Given the description of an element on the screen output the (x, y) to click on. 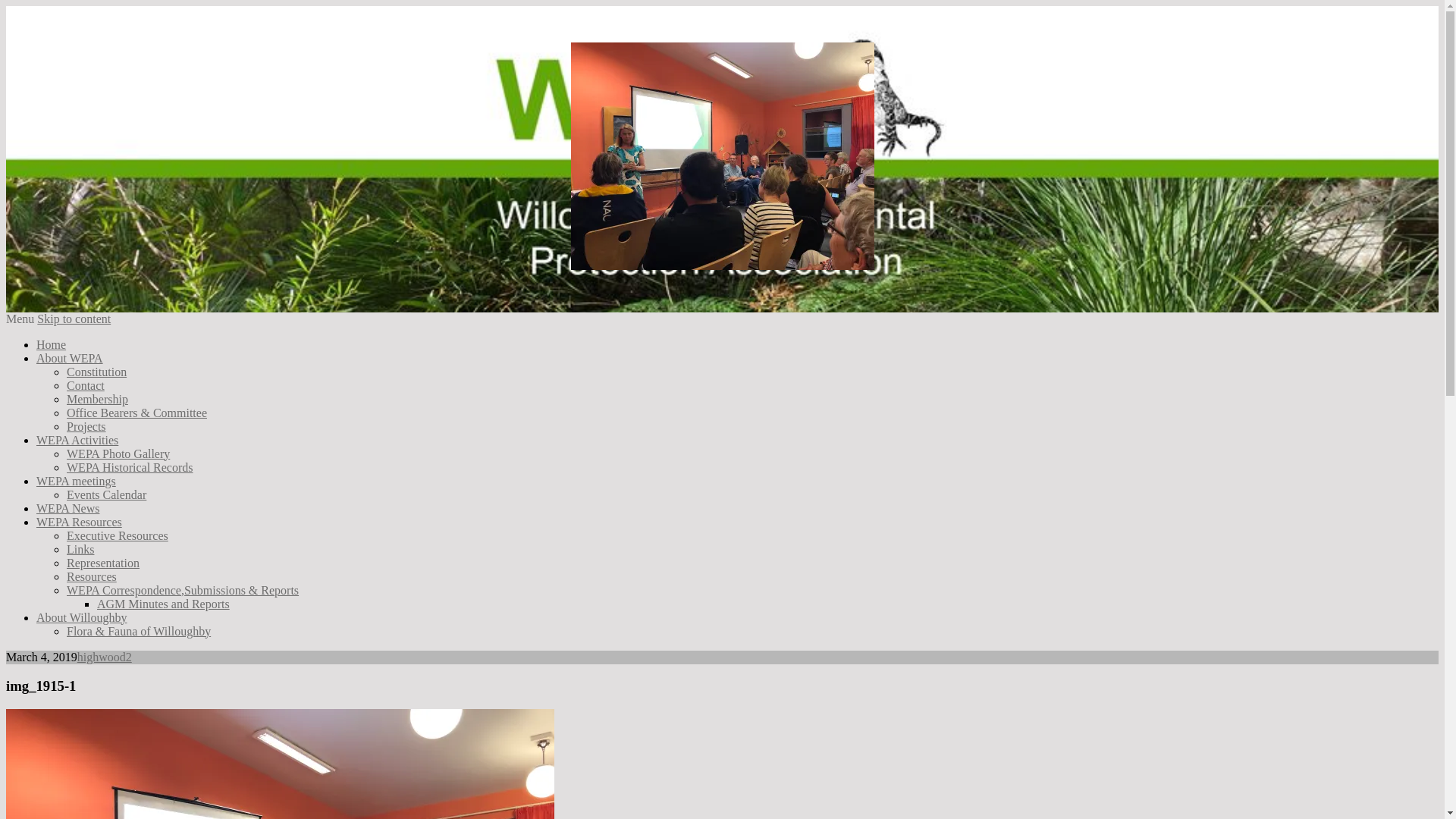
Representation Element type: text (102, 562)
About Willoughby Element type: text (81, 617)
WEPA Correspondence,Submissions & Reports Element type: text (182, 589)
Projects Element type: text (86, 426)
WEPA Historical Records Element type: text (129, 467)
WEPA Photo Gallery Element type: text (117, 453)
March 4, 2019 Element type: text (6, 650)
Constitution Element type: text (96, 371)
About WEPA Element type: text (69, 357)
Executive Resources Element type: text (117, 535)
Membership Element type: text (97, 398)
Resources Element type: text (91, 576)
Contact Element type: text (85, 385)
Events Calendar Element type: text (106, 494)
Home Element type: text (50, 344)
WEPA News Element type: text (67, 508)
WEPA meetings Element type: text (76, 480)
Skip to content Element type: text (73, 318)
Links Element type: text (80, 548)
WEPA Resources Element type: text (79, 521)
highwood2 Element type: text (104, 656)
Office Bearers & Committee Element type: text (136, 412)
AGM Minutes and Reports Element type: text (163, 603)
WEPA Element type: text (77, 305)
Menu Element type: text (20, 318)
WEPA Activities Element type: text (77, 439)
Flora & Fauna of Willoughby Element type: text (138, 630)
